Given the description of an element on the screen output the (x, y) to click on. 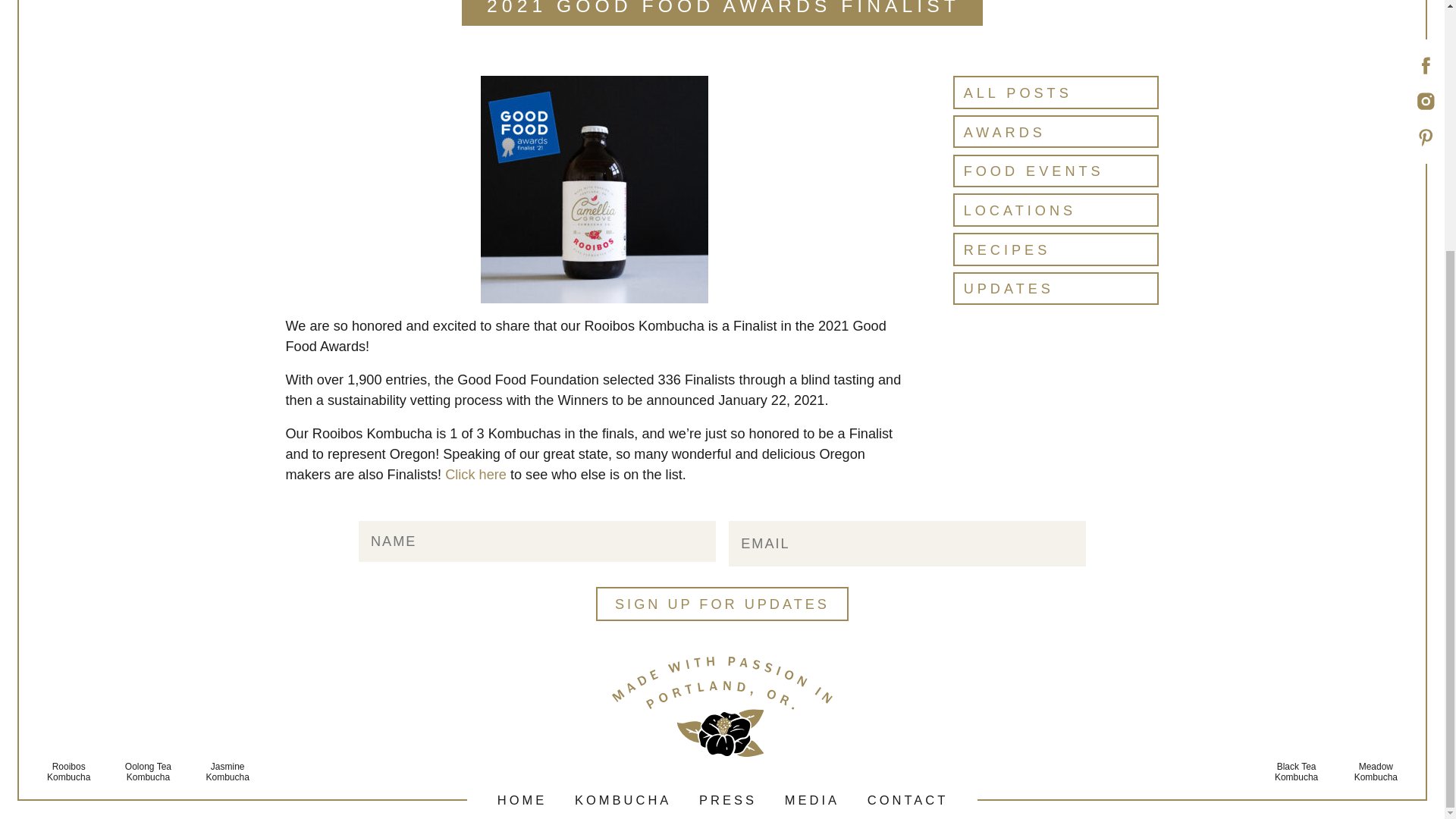
UPDATES (1055, 287)
AWARDS (1055, 131)
FOOD EVENTS (1055, 170)
Sign Up For Updates (721, 603)
ALL POSTS (1055, 92)
Sign Up For Updates (721, 603)
RECIPES (1055, 248)
Click here (475, 474)
LOCATIONS (1055, 209)
